Given the description of an element on the screen output the (x, y) to click on. 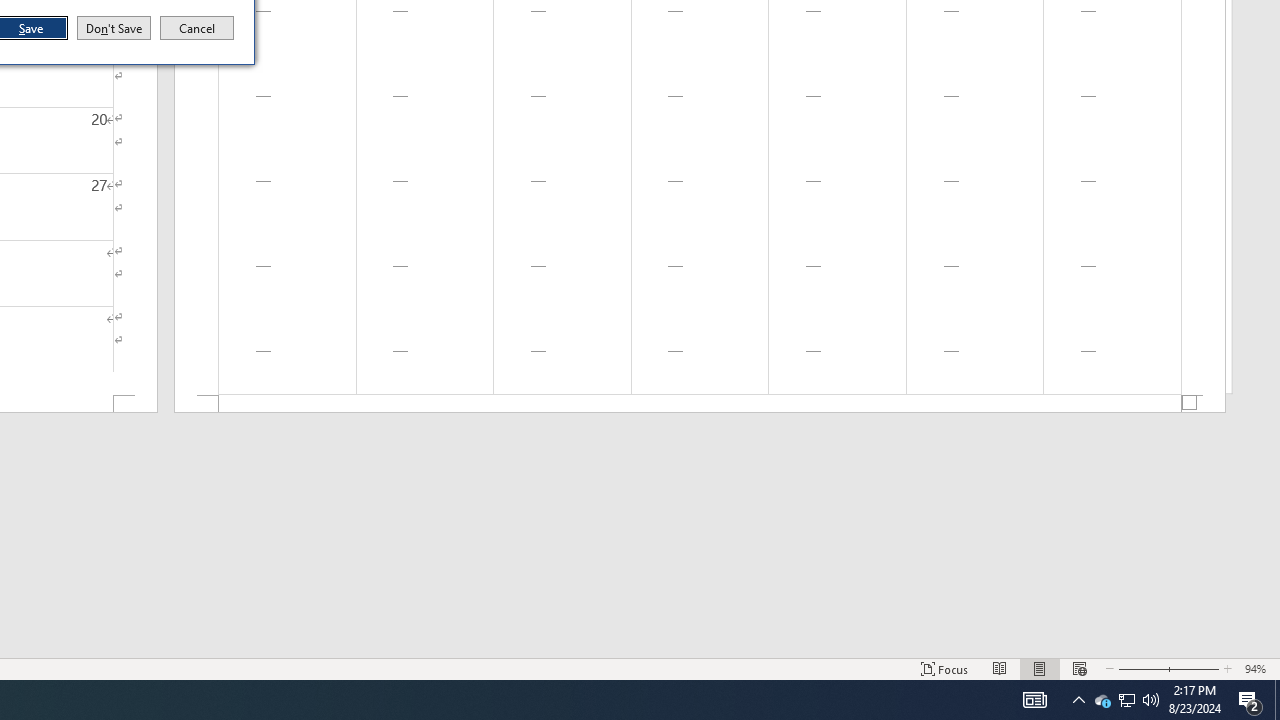
Zoom In (1193, 668)
Web Layout (1079, 668)
AutomationID: 4105 (1034, 699)
Read Mode (1000, 668)
Q2790: 100% (1151, 699)
Show desktop (1277, 699)
Don't Save (113, 27)
Action Center, 2 new notifications (1250, 699)
User Promoted Notification Area (1126, 699)
Focus  (1126, 699)
Print Layout (944, 668)
